Given the description of an element on the screen output the (x, y) to click on. 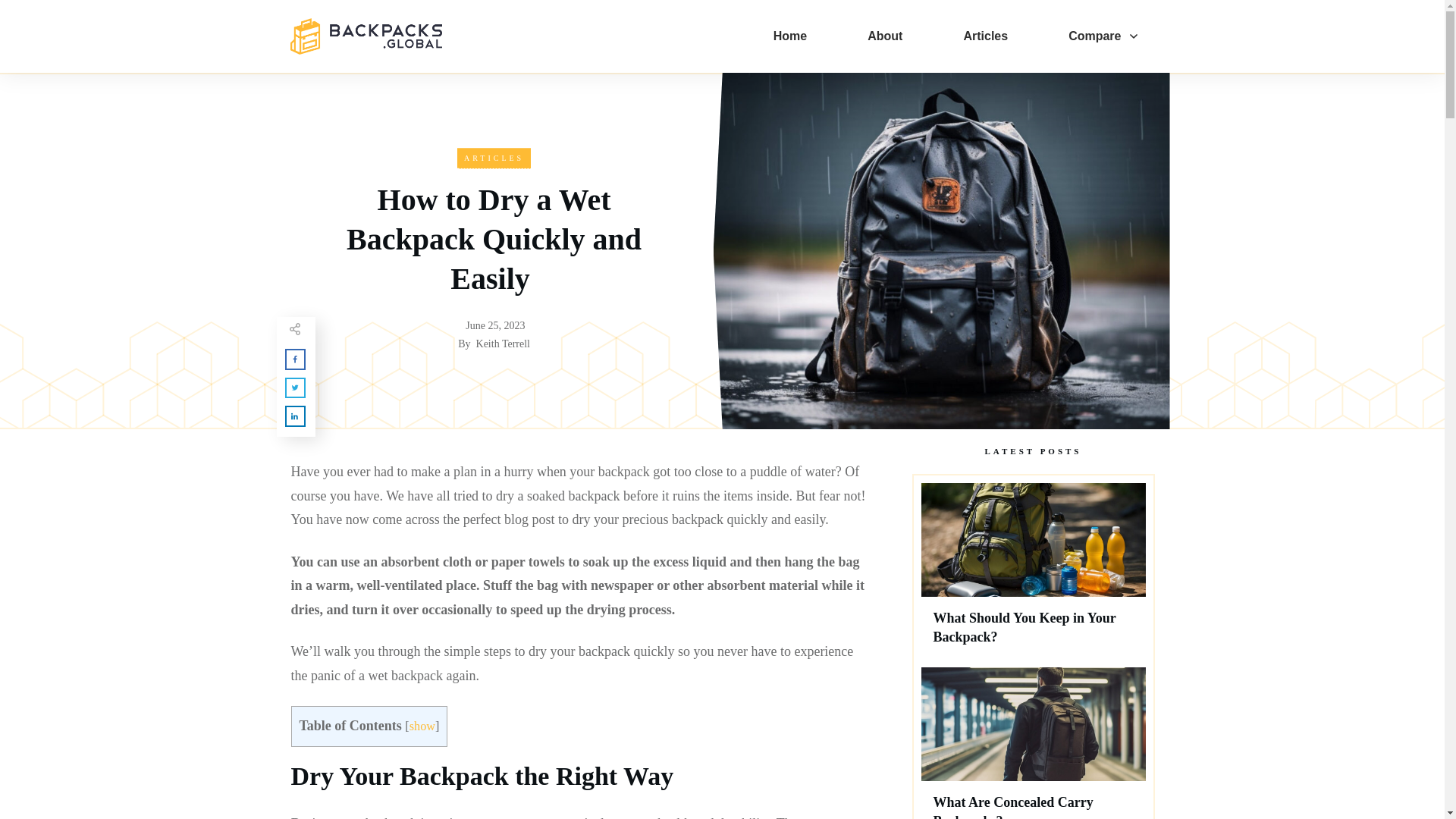
What Should You Keep in Your Backpack? (1024, 627)
What Are Concealed Carry Backpacks? (1013, 806)
Articles (494, 157)
Articles (984, 36)
ARTICLES (494, 157)
Home (789, 36)
Compare (1103, 36)
About (884, 36)
